Given the description of an element on the screen output the (x, y) to click on. 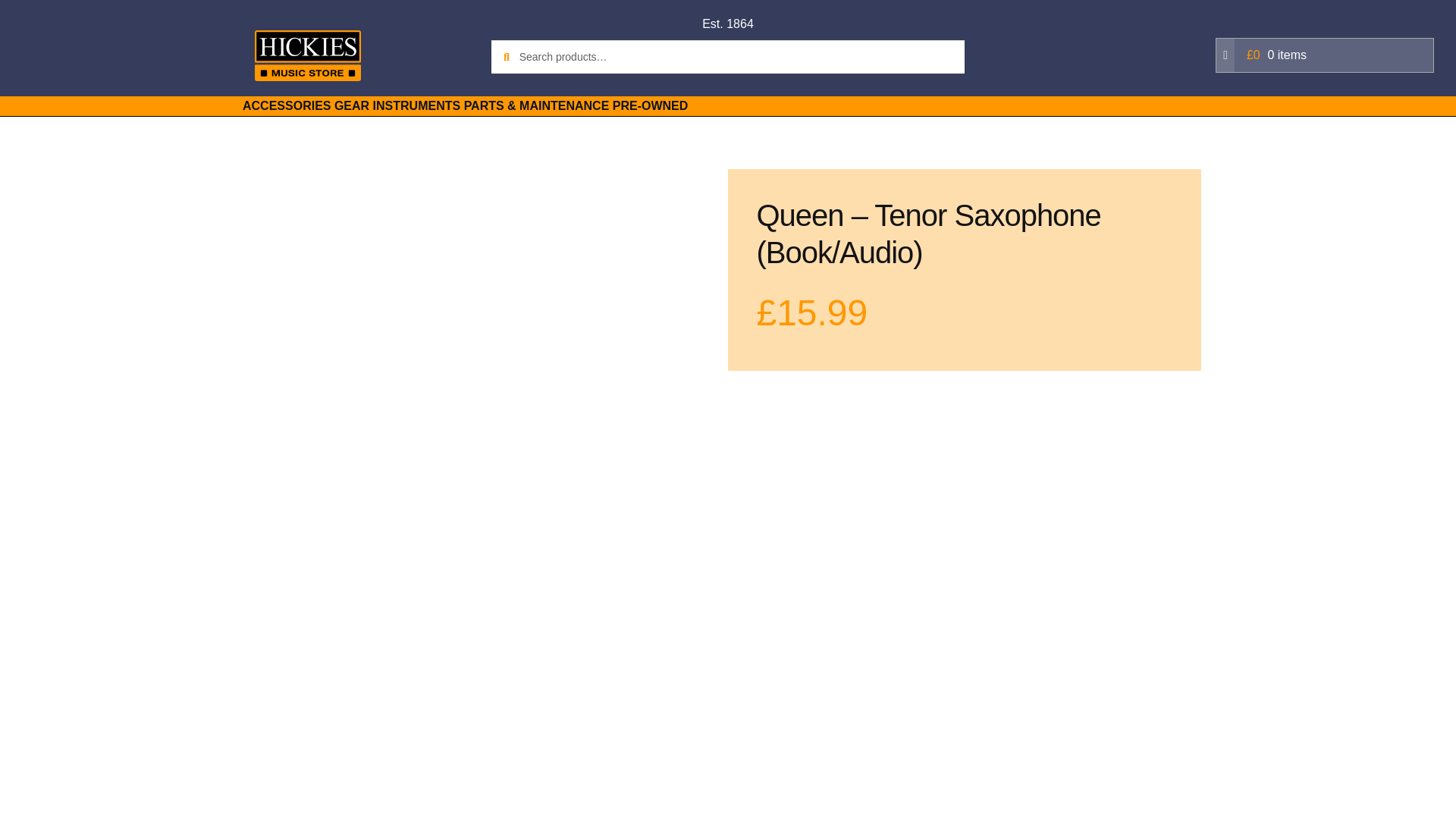
INSTRUMENTS (416, 106)
View your shopping basket (1323, 55)
ACCESSORIES (286, 106)
PRE-OWNED (650, 106)
GEAR (351, 106)
